Given the description of an element on the screen output the (x, y) to click on. 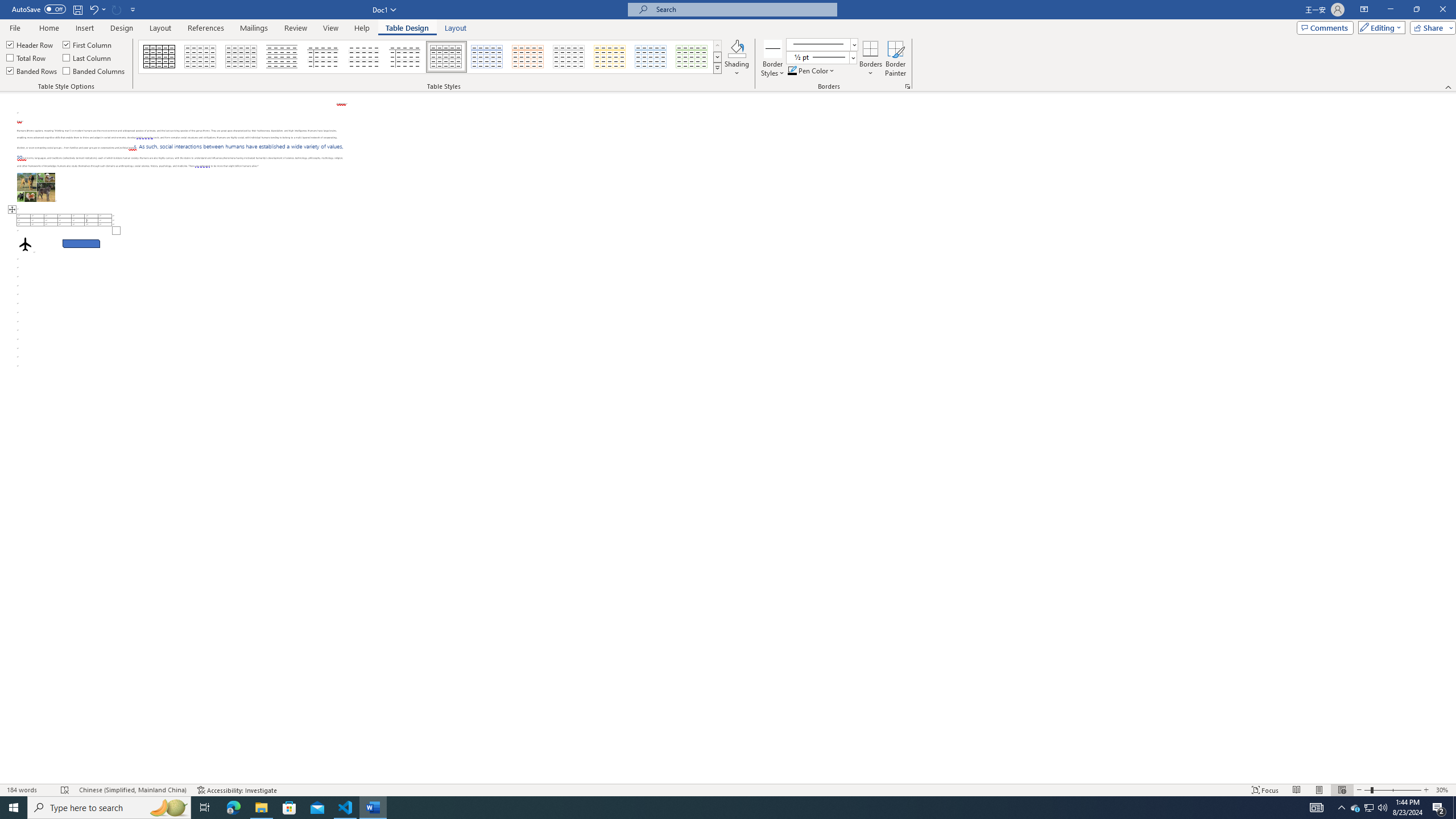
Grid Table 1 Light - Accent 2 (528, 56)
Accessibility Checker Accessibility: Investigate (237, 790)
Morphological variation in six dogs (36, 187)
Table Grid Light (200, 56)
Plain Table 1 (241, 56)
Pen Weight (821, 56)
Undo Row Height Spinner (96, 9)
